Given the description of an element on the screen output the (x, y) to click on. 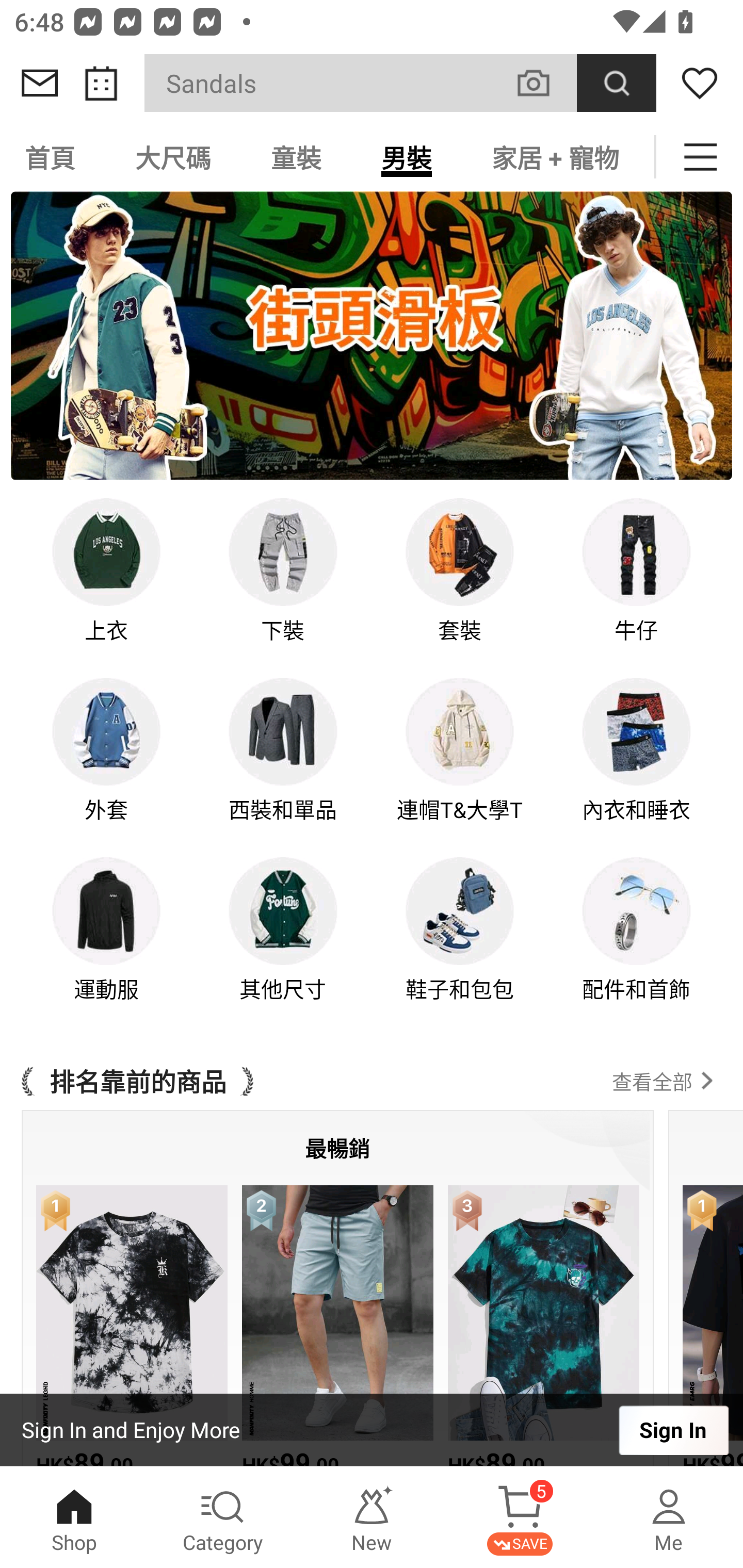
Wishlist (699, 82)
VISUAL SEARCH (543, 82)
首頁 (52, 156)
大尺碼 (172, 156)
童裝 (295, 156)
男裝 (406, 156)
家居 + 寵物 (555, 156)
上衣 (105, 584)
下裝 (282, 584)
套裝 (459, 584)
牛仔 (636, 584)
外套 (105, 763)
西裝和單品 (282, 763)
連帽T&大學T (459, 763)
內衣和睡衣 (636, 763)
運動服 (105, 943)
其他尺寸 (282, 943)
鞋子和包包 (459, 943)
配件和首飾 (636, 943)
Sign In and Enjoy More Sign In (371, 1429)
Category (222, 1517)
New (371, 1517)
Cart 5 SAVE (519, 1517)
Me (668, 1517)
